Given the description of an element on the screen output the (x, y) to click on. 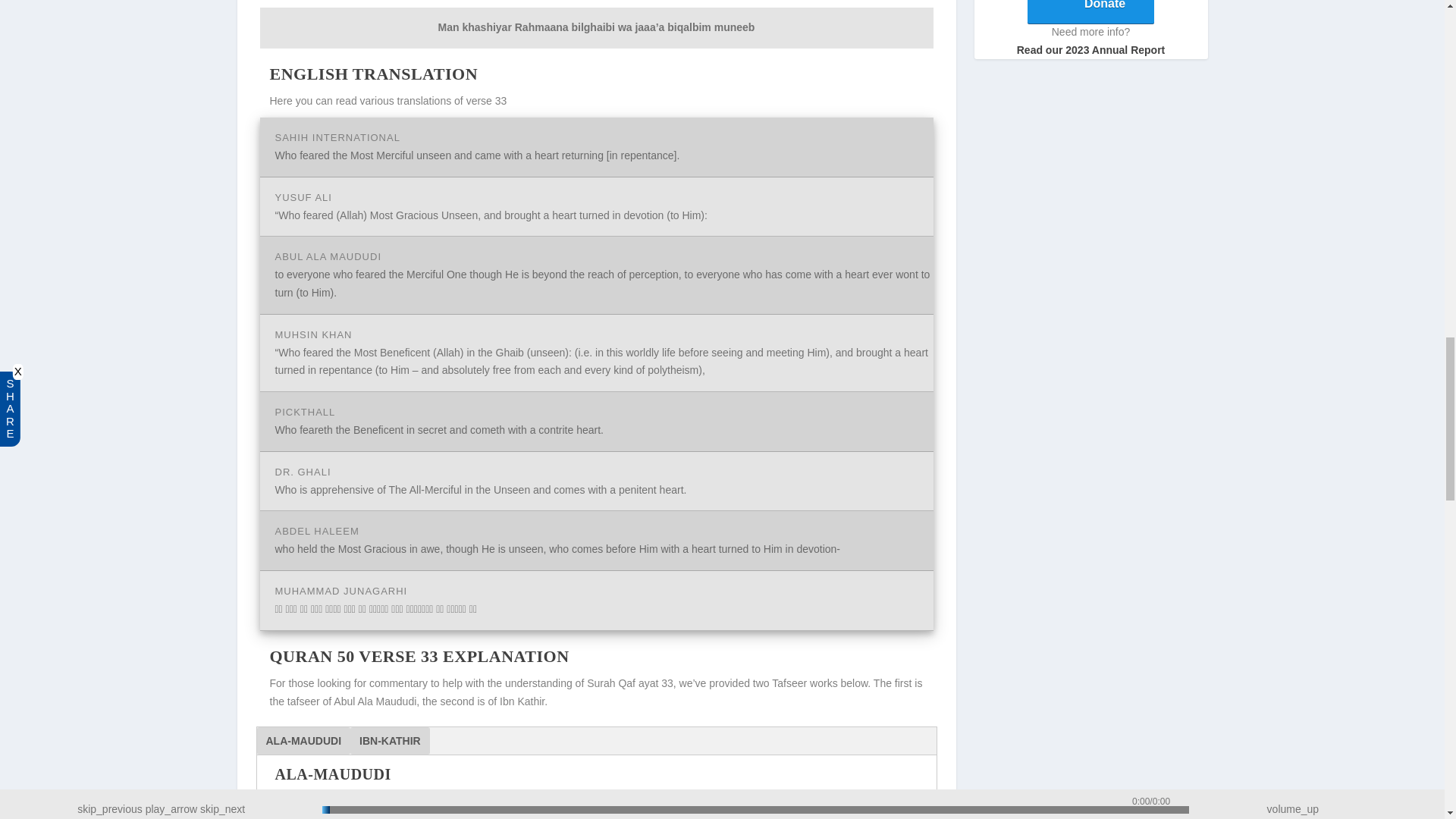
IBN-KATHIR (389, 740)
ALA-MAUDUDI (303, 740)
